Given the description of an element on the screen output the (x, y) to click on. 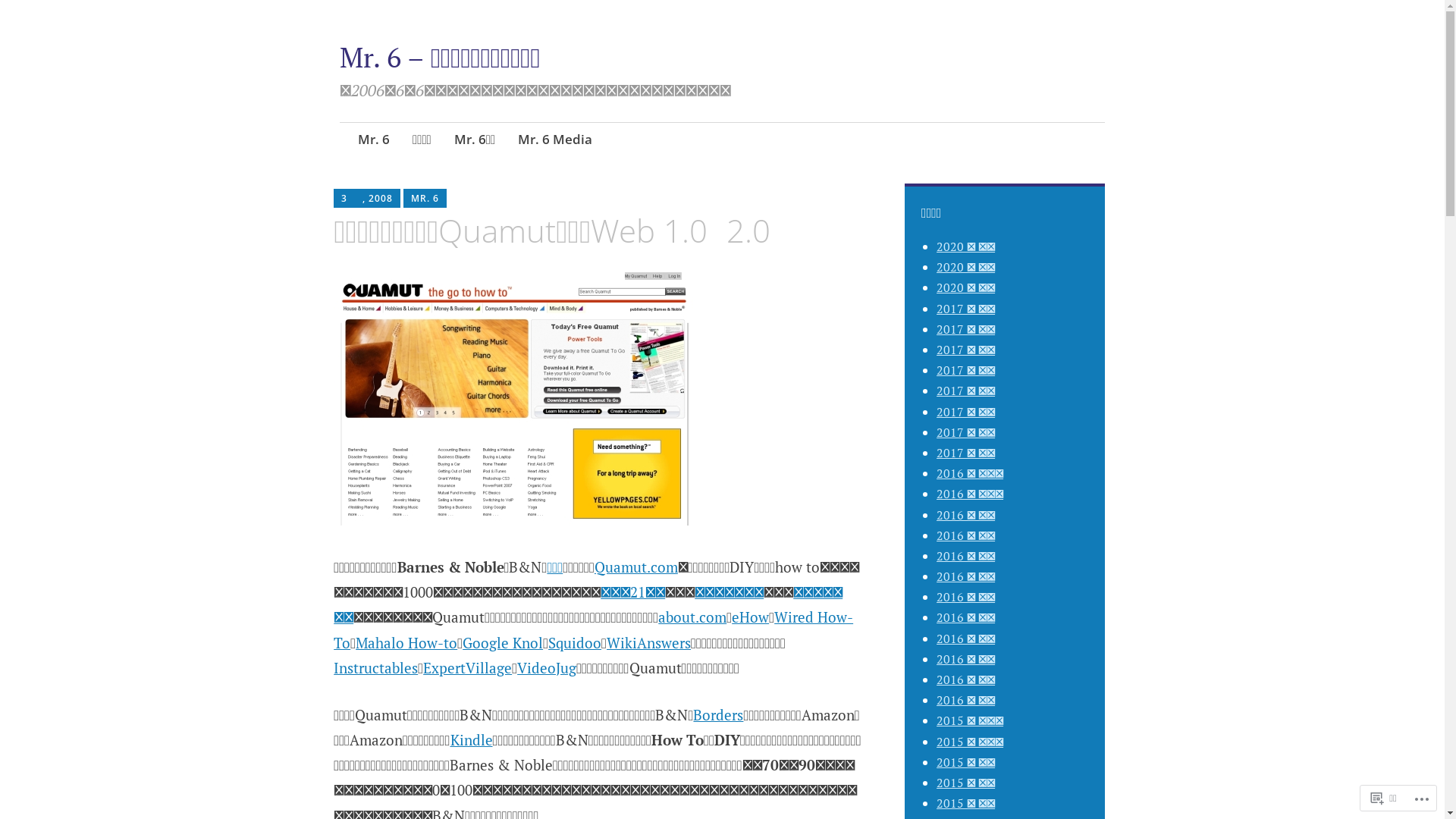
Instructables Element type: text (375, 667)
Squidoo Element type: text (574, 642)
ExpertVillage Element type: text (467, 667)
Mahalo How-to Element type: text (406, 642)
about.com Element type: text (692, 616)
eHow Element type: text (749, 616)
VideoJug Element type: text (546, 667)
Wired How-To Element type: text (593, 629)
Google Knol Element type: text (502, 642)
MR. 6 Element type: text (425, 197)
Kindle Element type: text (471, 739)
Quamut.com Element type: text (635, 566)
Borders Element type: text (718, 714)
Mr. 6 Media Element type: text (554, 140)
WikiAnswers Element type: text (648, 642)
